Given the description of an element on the screen output the (x, y) to click on. 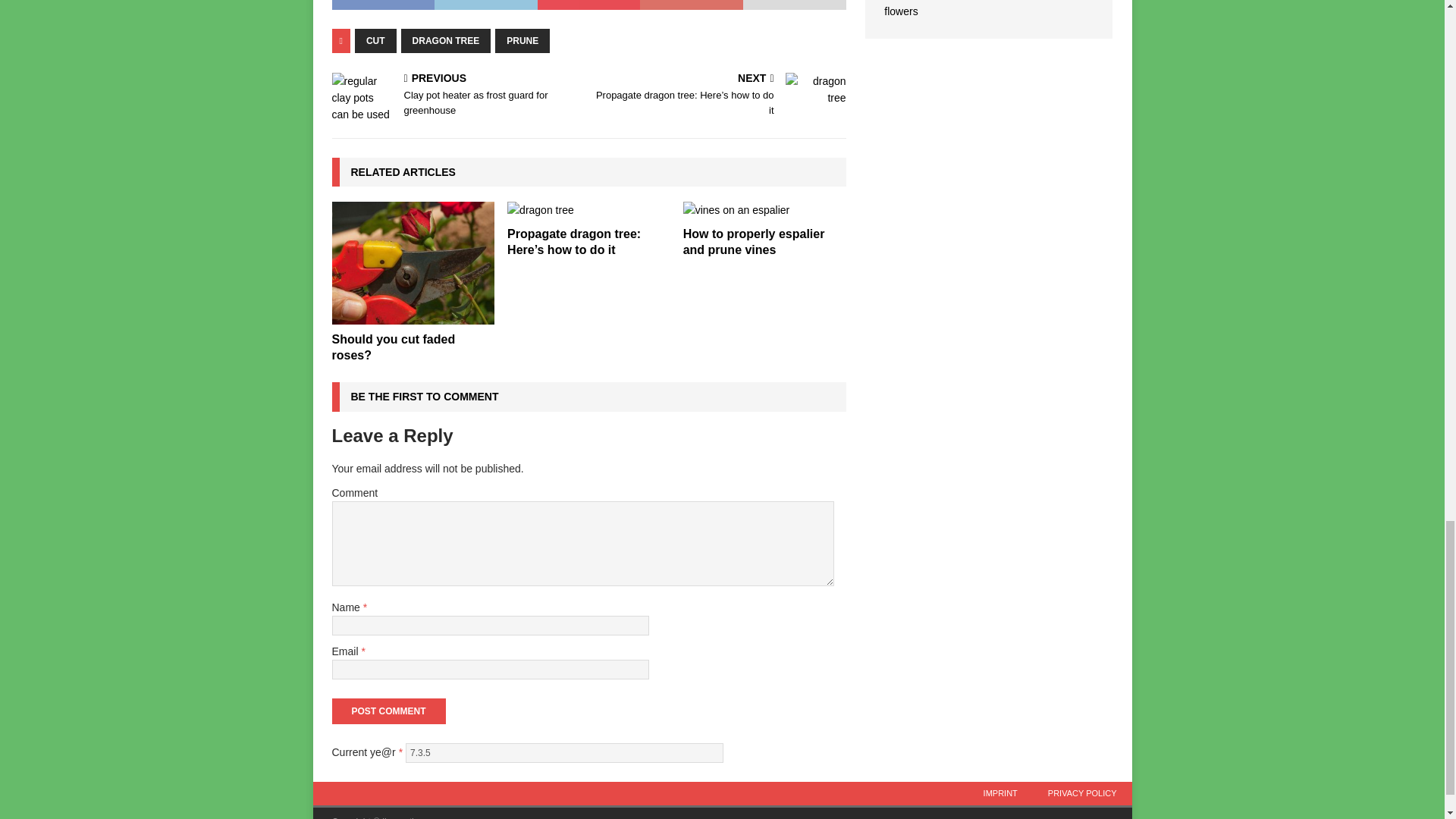
Should you cut faded roses? (413, 262)
Post Comment (388, 710)
Should you cut faded roses? (393, 346)
PRUNE (522, 40)
Should you cut faded roses? (393, 346)
DRAGON TREE (457, 95)
7.3.5 (446, 40)
CUT (564, 752)
